Given the description of an element on the screen output the (x, y) to click on. 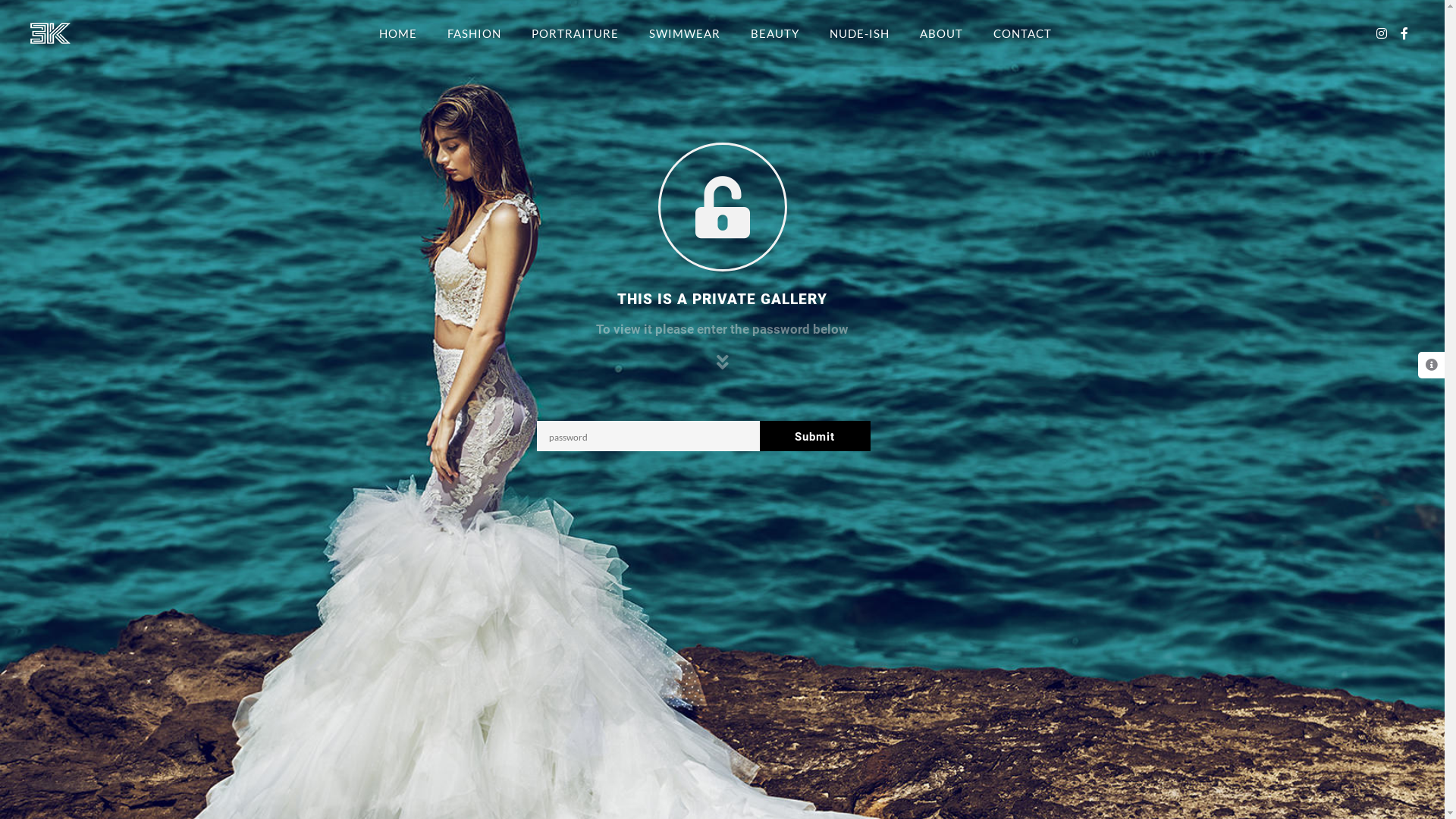
HOME Element type: text (398, 33)
Eddie Korjenic Element type: hover (50, 33)
PORTRAITURE Element type: text (574, 33)
NUDE-ISH Element type: text (859, 33)
Submit Element type: text (815, 435)
Facebook Element type: hover (1404, 33)
SWIMWEAR Element type: text (684, 33)
Instagram Element type: hover (1381, 33)
ABOUT Element type: text (940, 33)
BEAUTY Element type: text (774, 33)
CONTACT Element type: text (1022, 33)
FASHION Element type: text (474, 33)
